Given the description of an element on the screen output the (x, y) to click on. 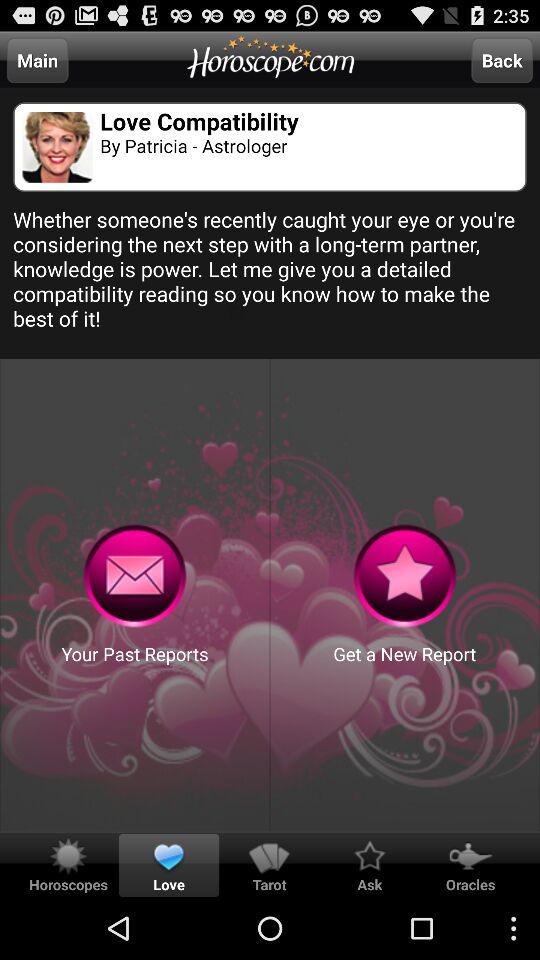
menu buttons (404, 575)
